Given the description of an element on the screen output the (x, y) to click on. 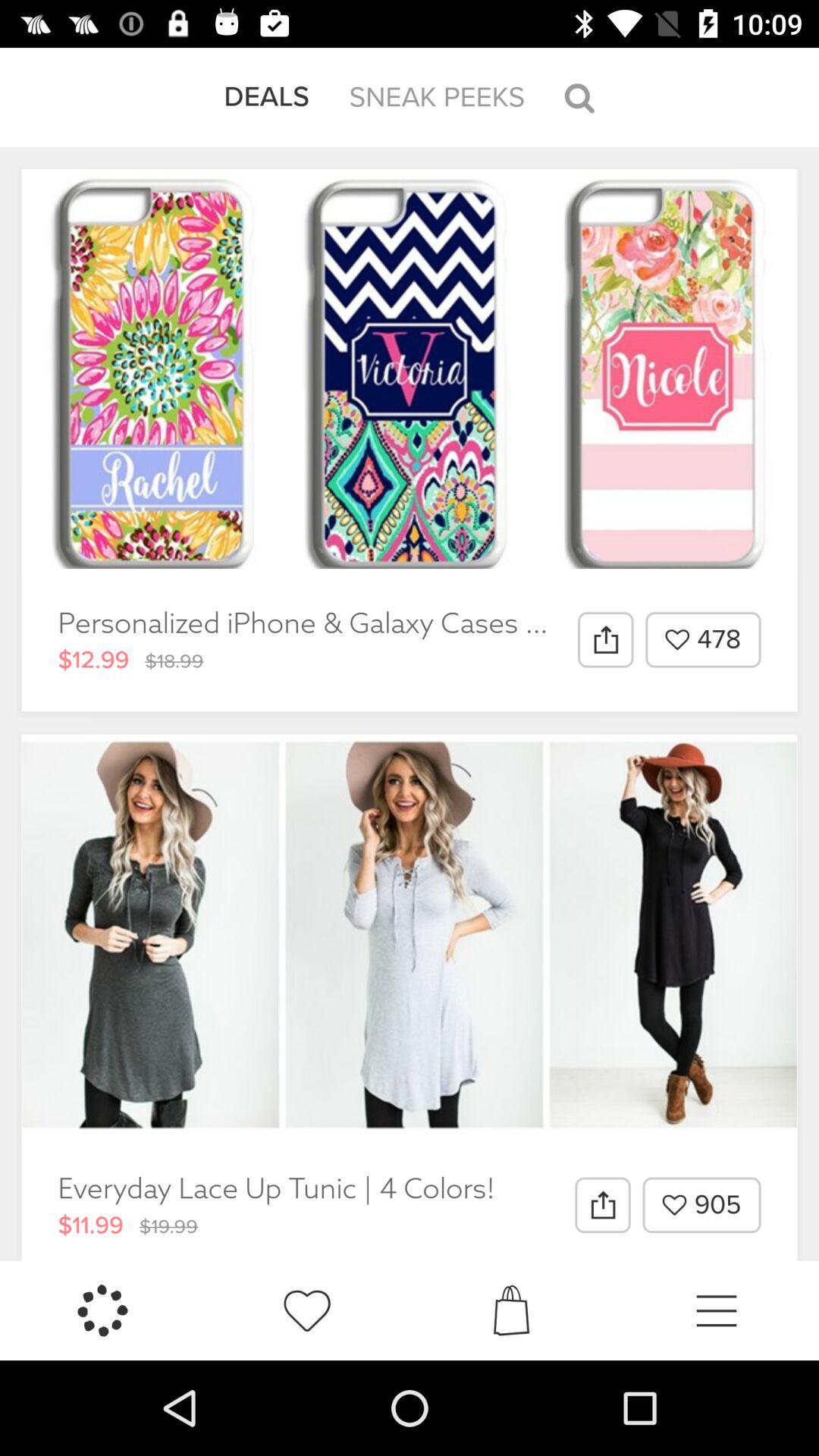
jump to the deals (266, 97)
